Given the description of an element on the screen output the (x, y) to click on. 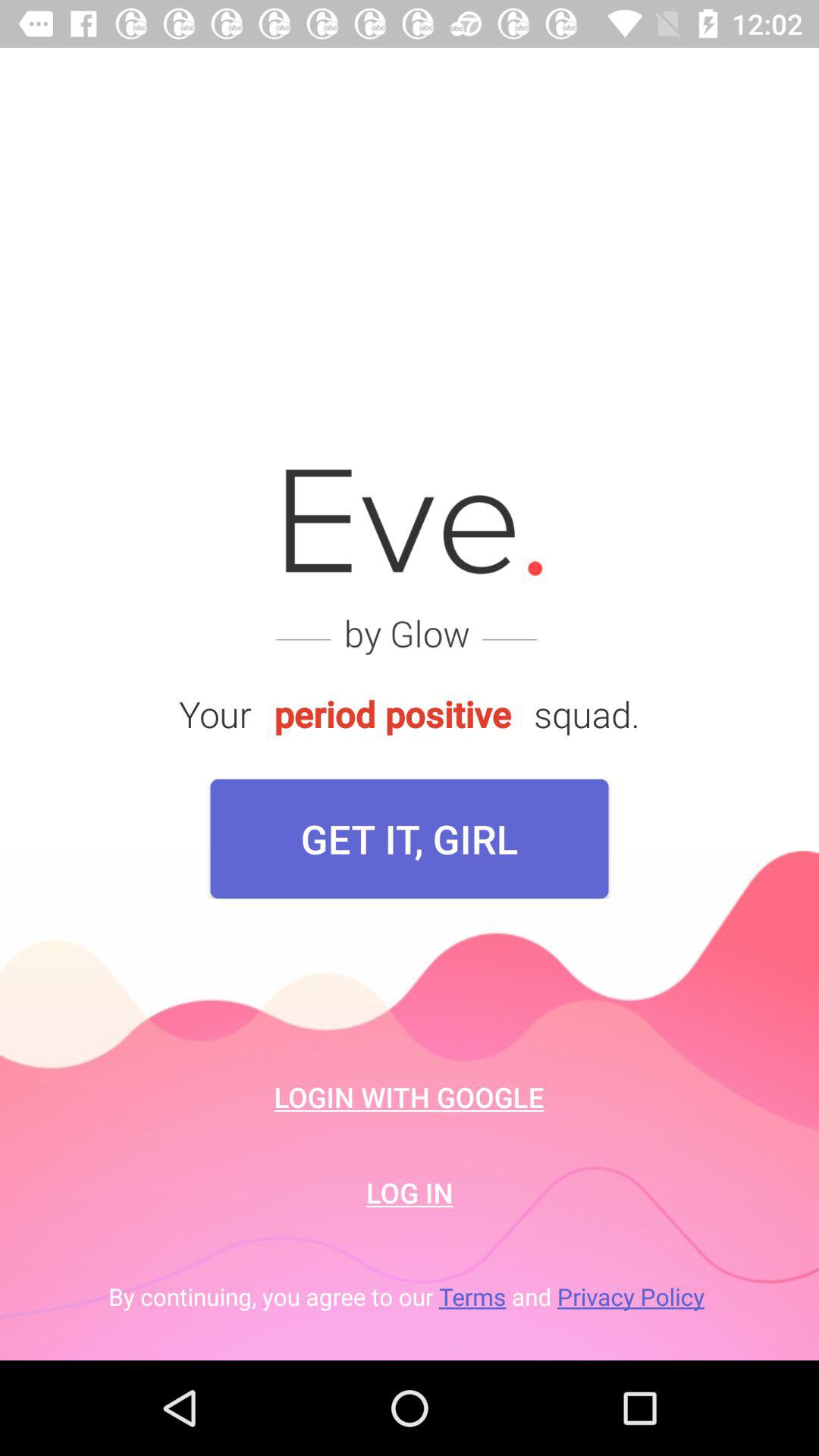
flip to login with google (409, 1096)
